Given the description of an element on the screen output the (x, y) to click on. 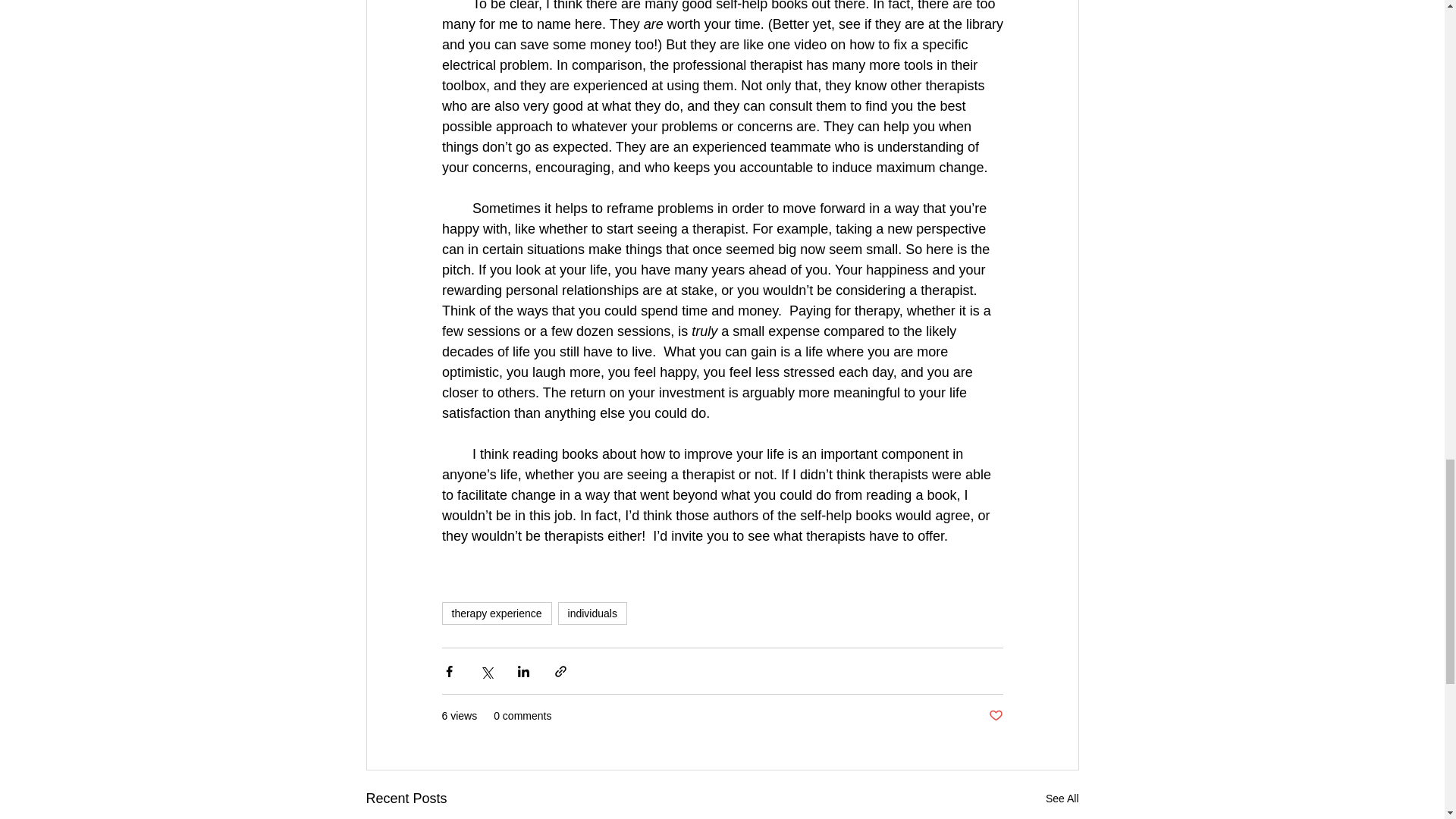
therapy experience (496, 612)
See All (1061, 798)
Post not marked as liked (995, 715)
individuals (592, 612)
